Given the description of an element on the screen output the (x, y) to click on. 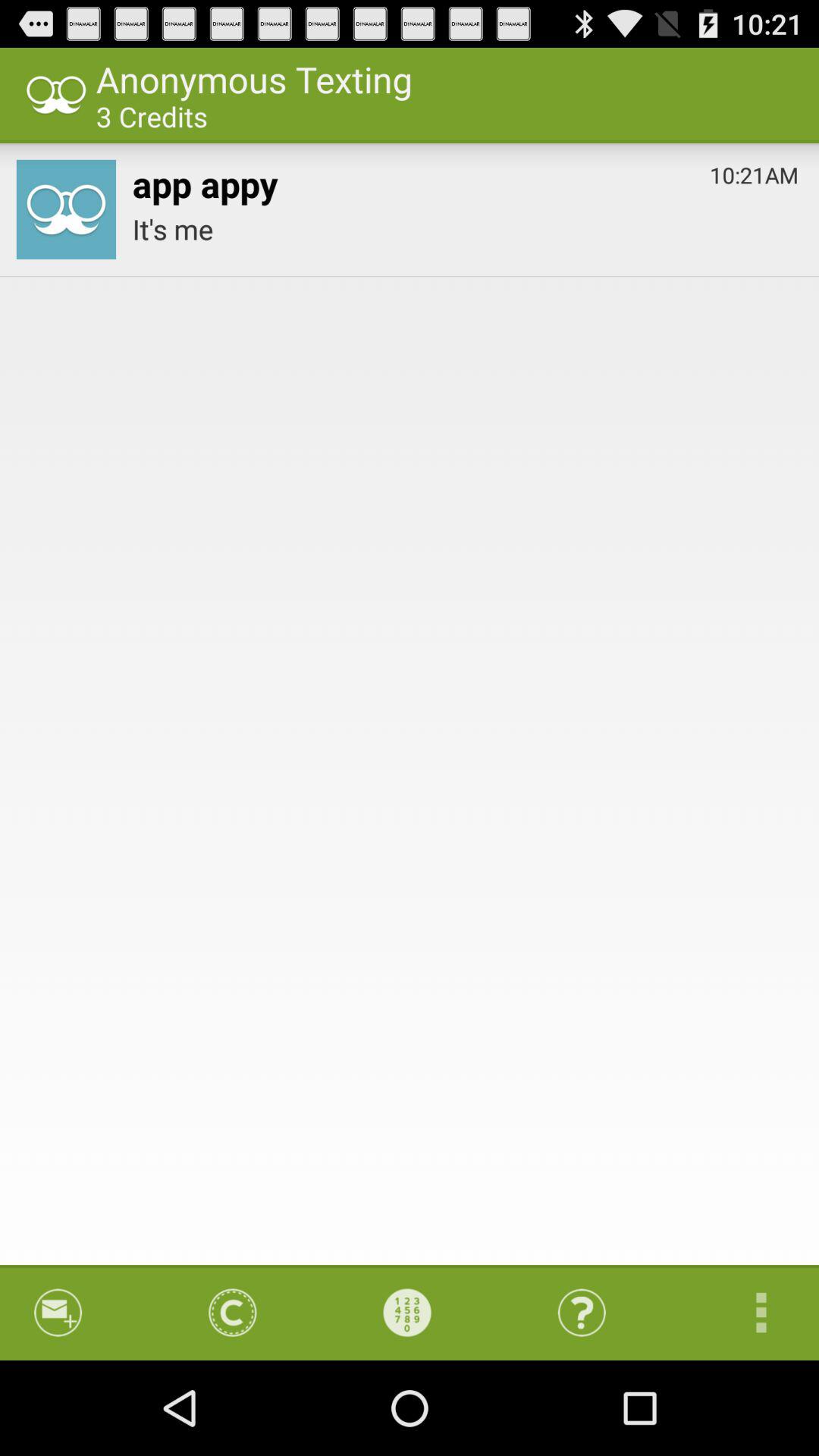
turn off the item to the left of 10:21am (205, 180)
